Given the description of an element on the screen output the (x, y) to click on. 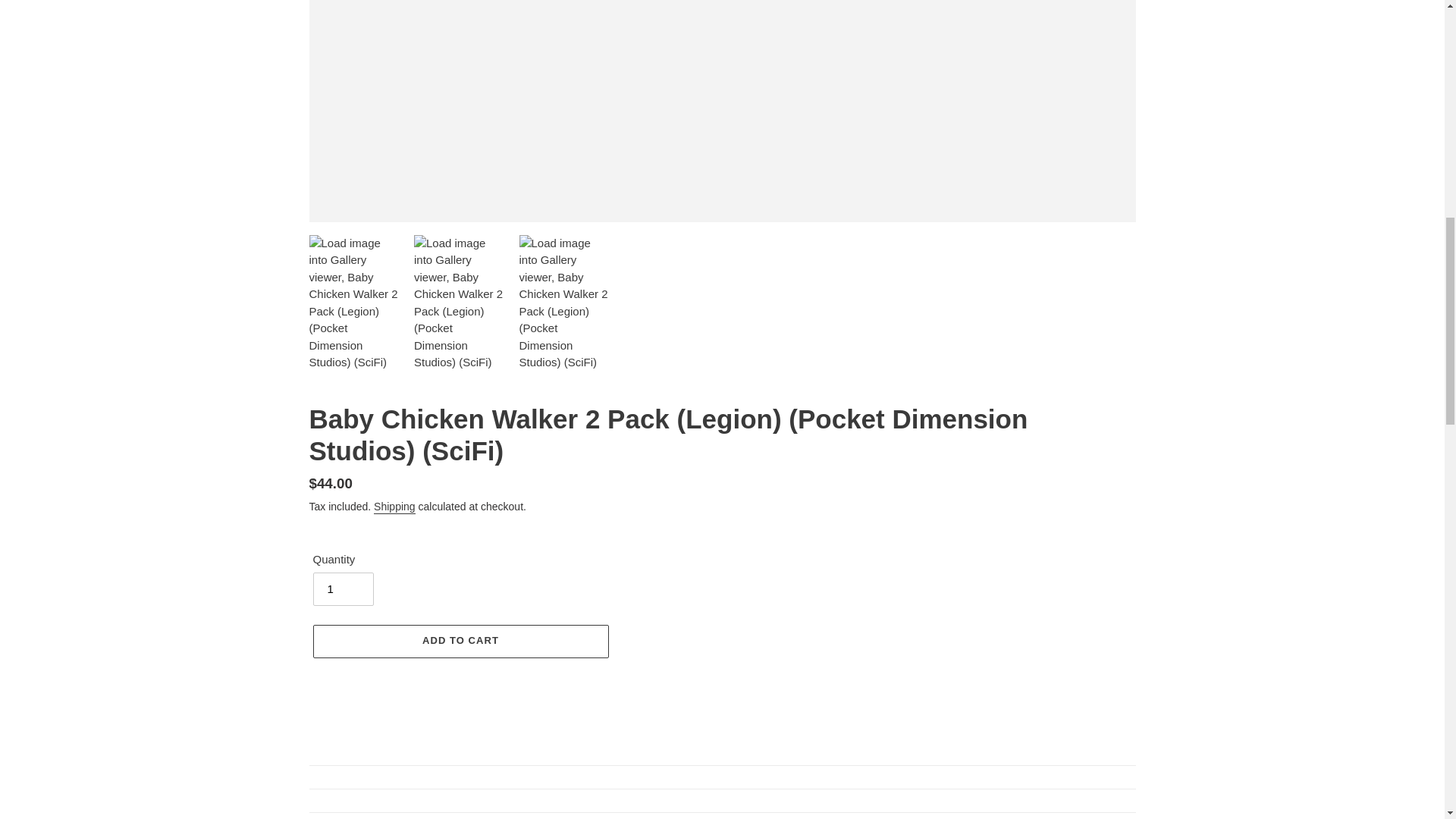
Shipping (394, 507)
1 (342, 589)
ADD TO CART (460, 641)
